Given the description of an element on the screen output the (x, y) to click on. 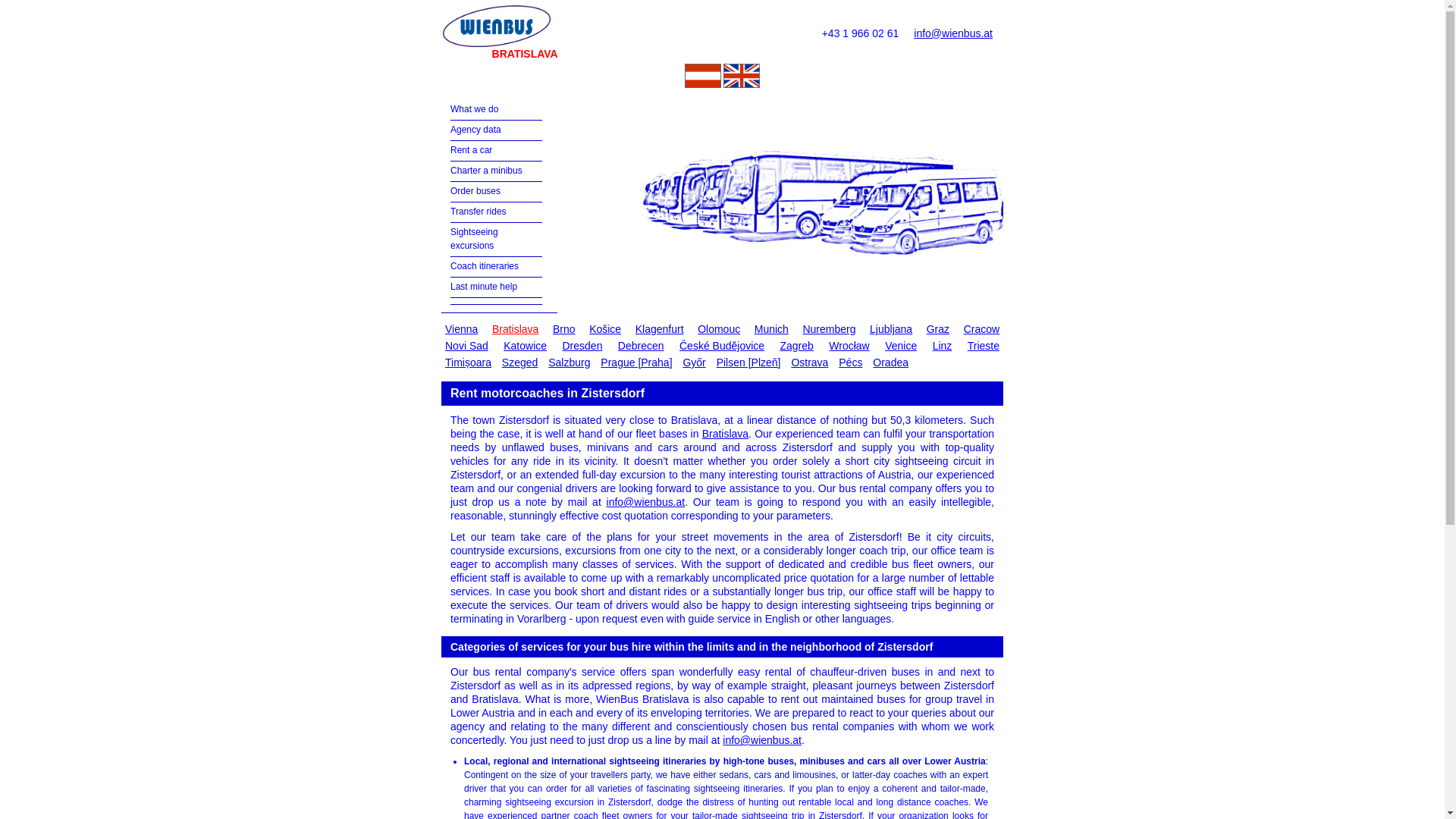
Last minute buses in Bratislava (482, 286)
Nuremberg (828, 329)
Bratislava (514, 329)
Zagreb (796, 345)
Painlessly rent a coach with driver next to Olomouc (719, 329)
Charter buses with driver in Vienna (461, 329)
Rent a Microbus in Bratislava (485, 170)
Travel itineraries in Bratislava (483, 266)
Munich (771, 329)
Sightseeing excursions (473, 238)
Trieste (983, 345)
Cracow (981, 329)
Agency data (474, 129)
Rent a bus next to Nuremberg (828, 329)
Busse mieten in Bratislava (702, 83)
